Given the description of an element on the screen output the (x, y) to click on. 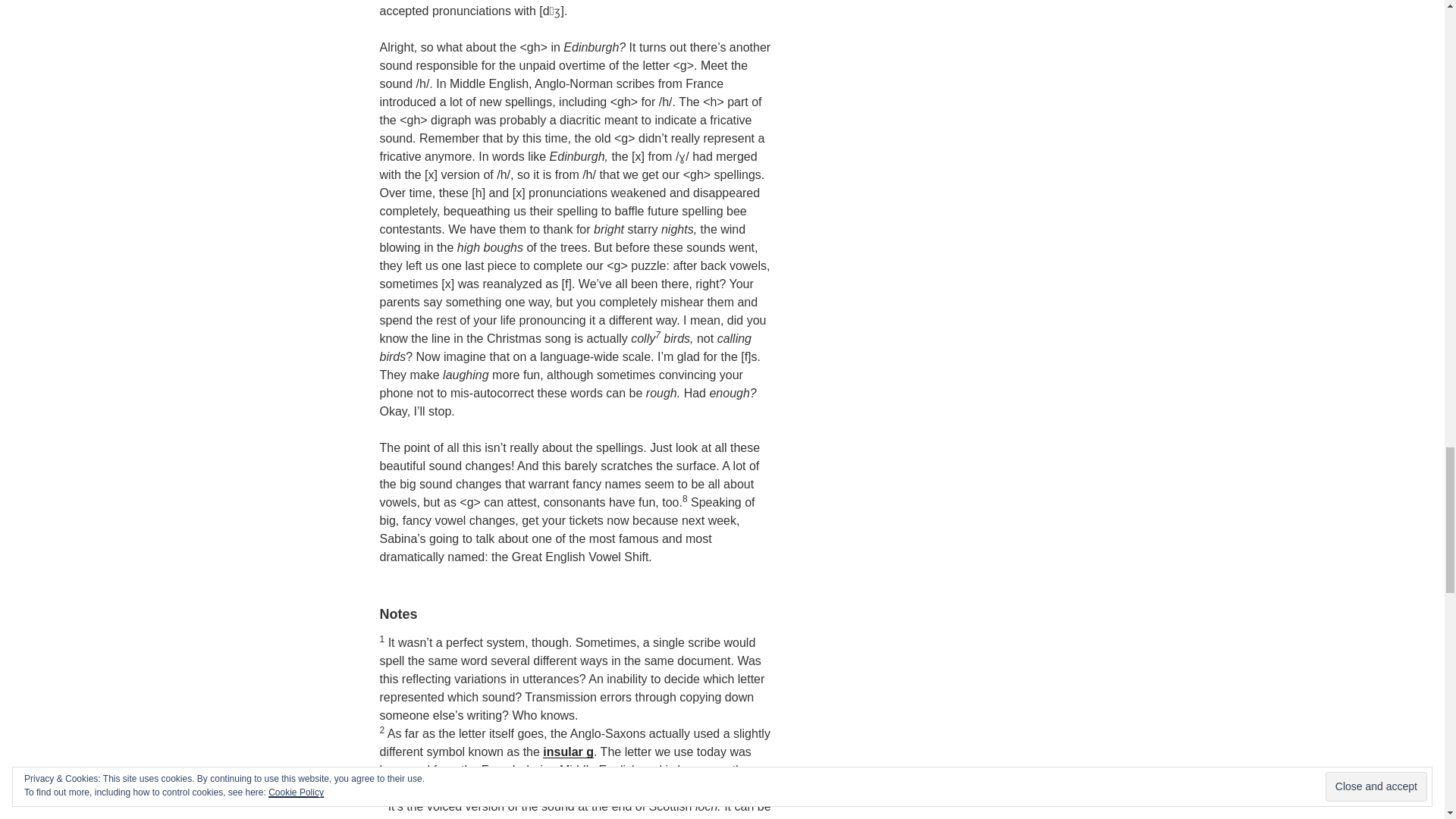
Carolingian g (417, 788)
insular g (568, 751)
